Given the description of an element on the screen output the (x, y) to click on. 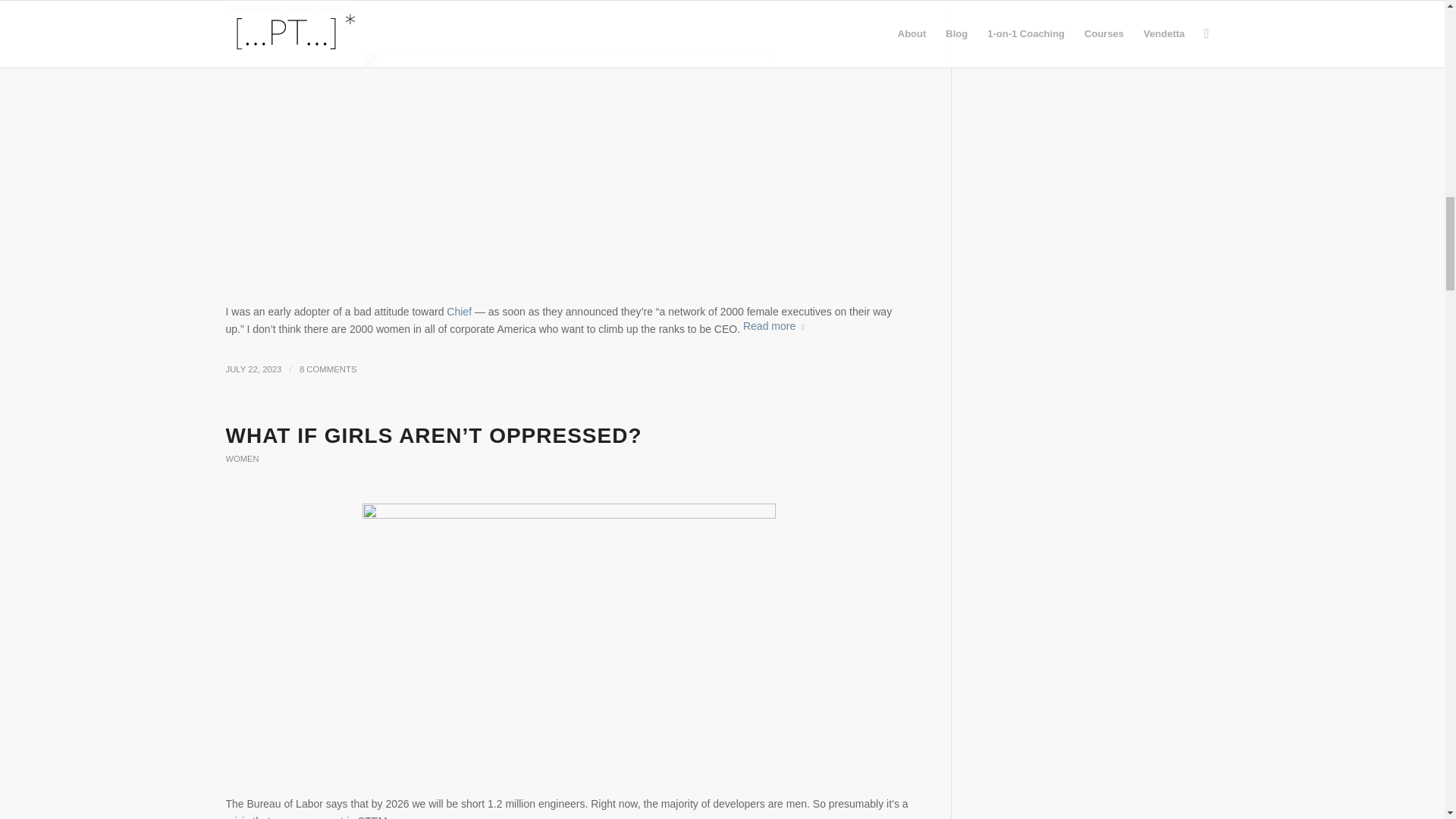
Read more (776, 325)
8 COMMENTS (327, 368)
WOMEN (242, 458)
Chief (458, 311)
WOMEN (335, 8)
ENTREPRENEURSHIP (269, 8)
